Given the description of an element on the screen output the (x, y) to click on. 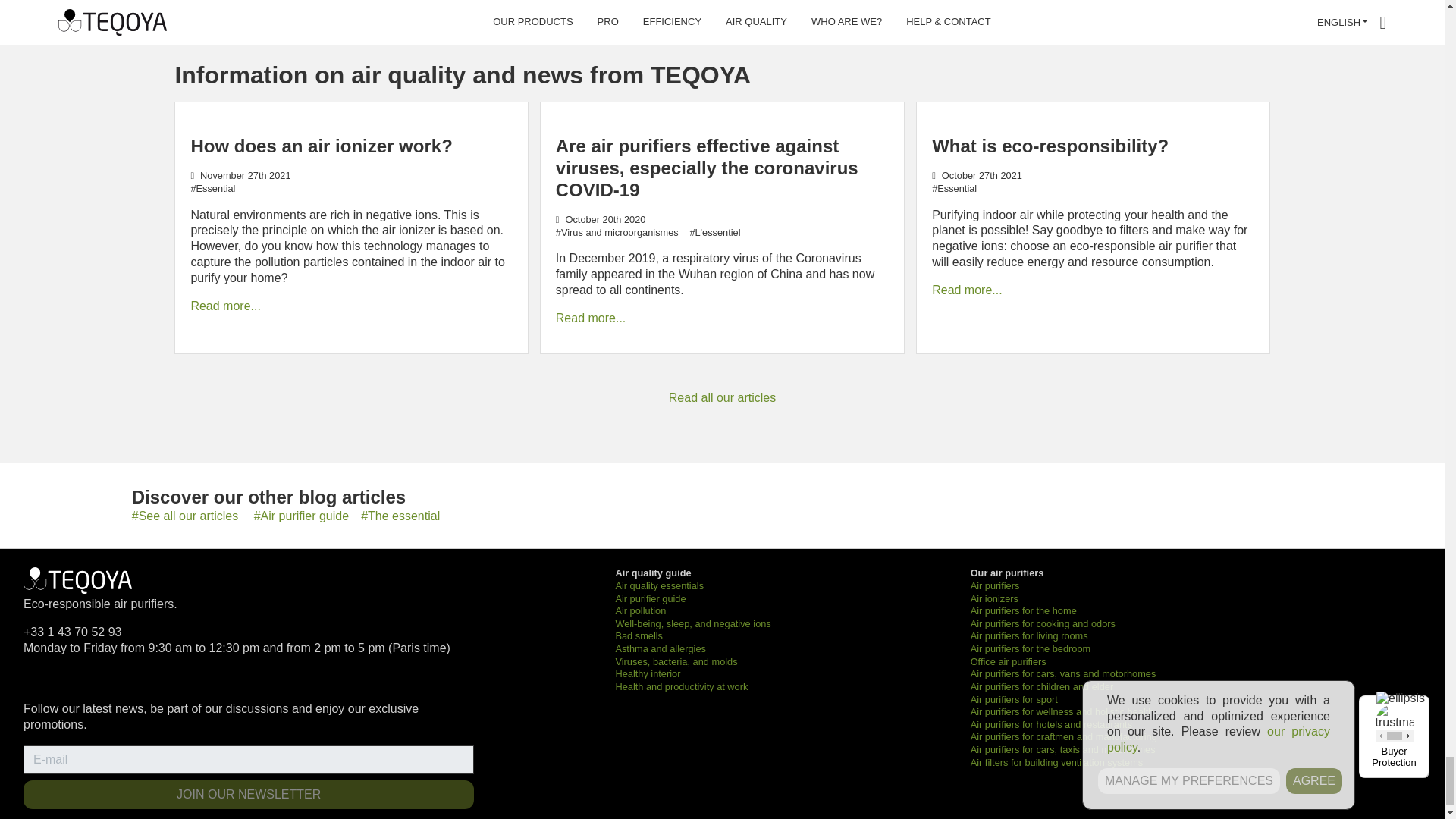
Follow Us on Instagram (101, 680)
Follow Us on Facebook (37, 680)
TEOQYA Channel (133, 680)
Follow Us on LinkedIn (69, 680)
